Given the description of an element on the screen output the (x, y) to click on. 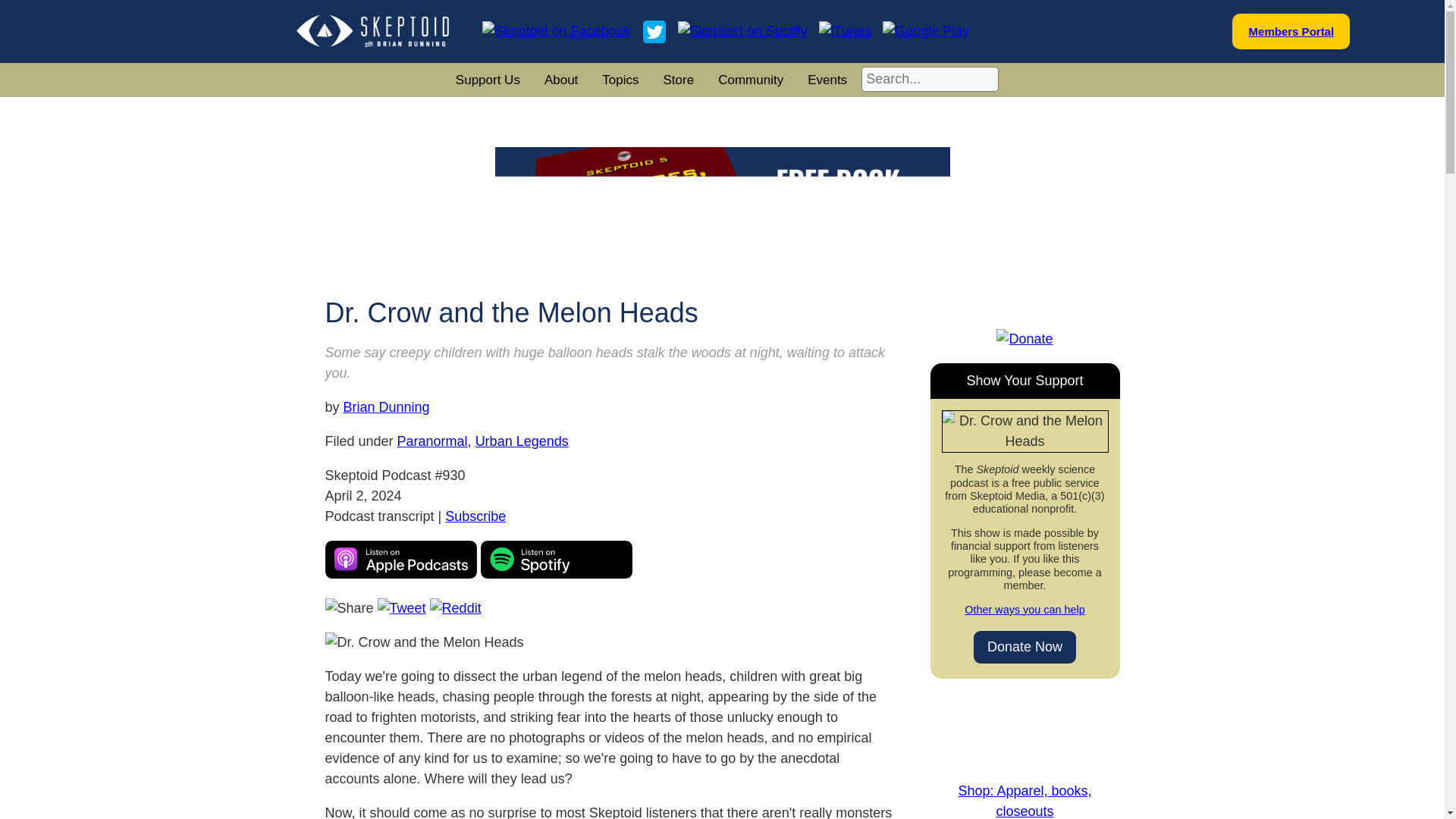
Support Us (488, 80)
Members Portal (1292, 31)
About (560, 80)
Topics (619, 80)
